Given the description of an element on the screen output the (x, y) to click on. 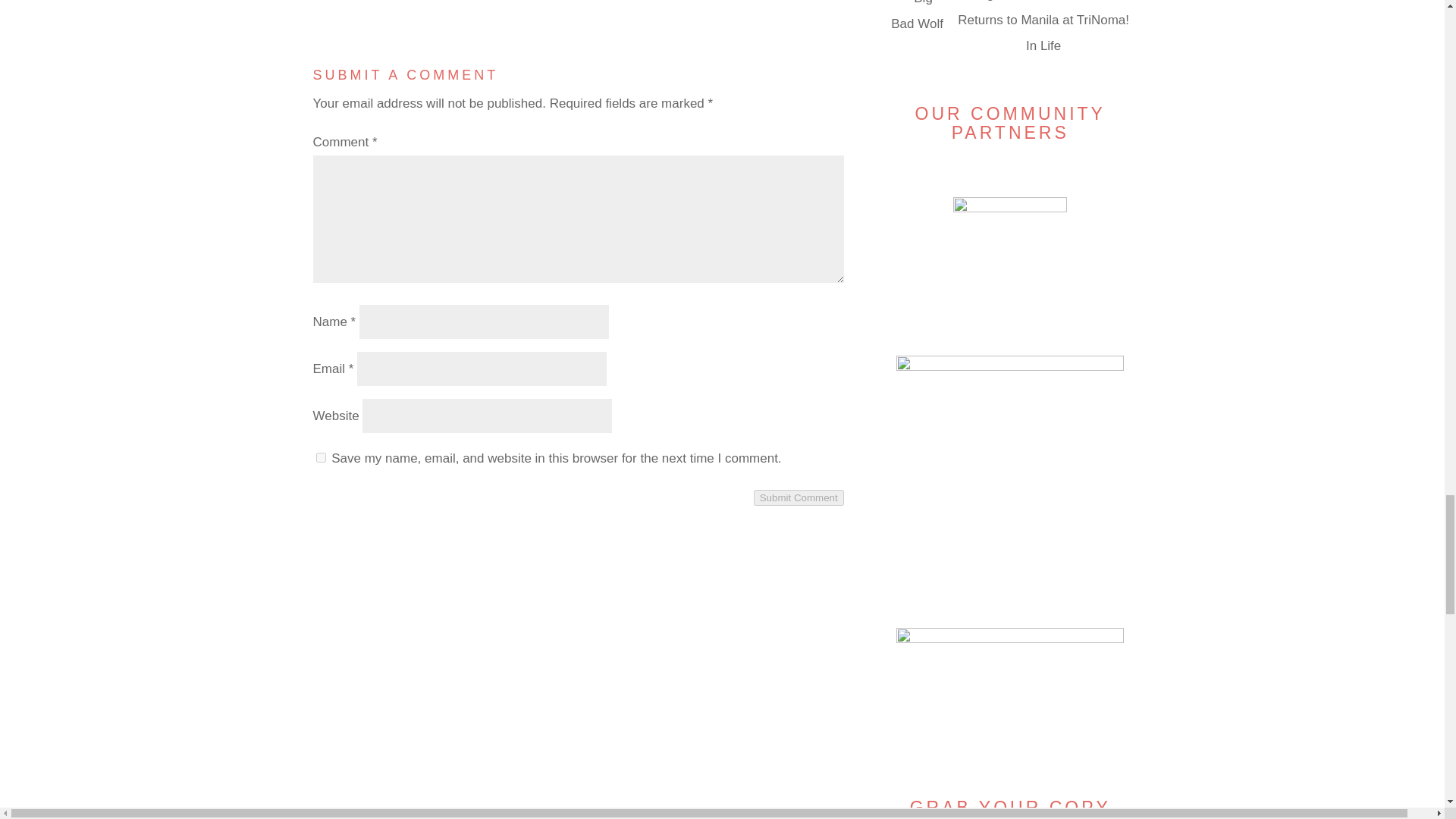
yes (319, 457)
Submit Comment (799, 497)
